Given the description of an element on the screen output the (x, y) to click on. 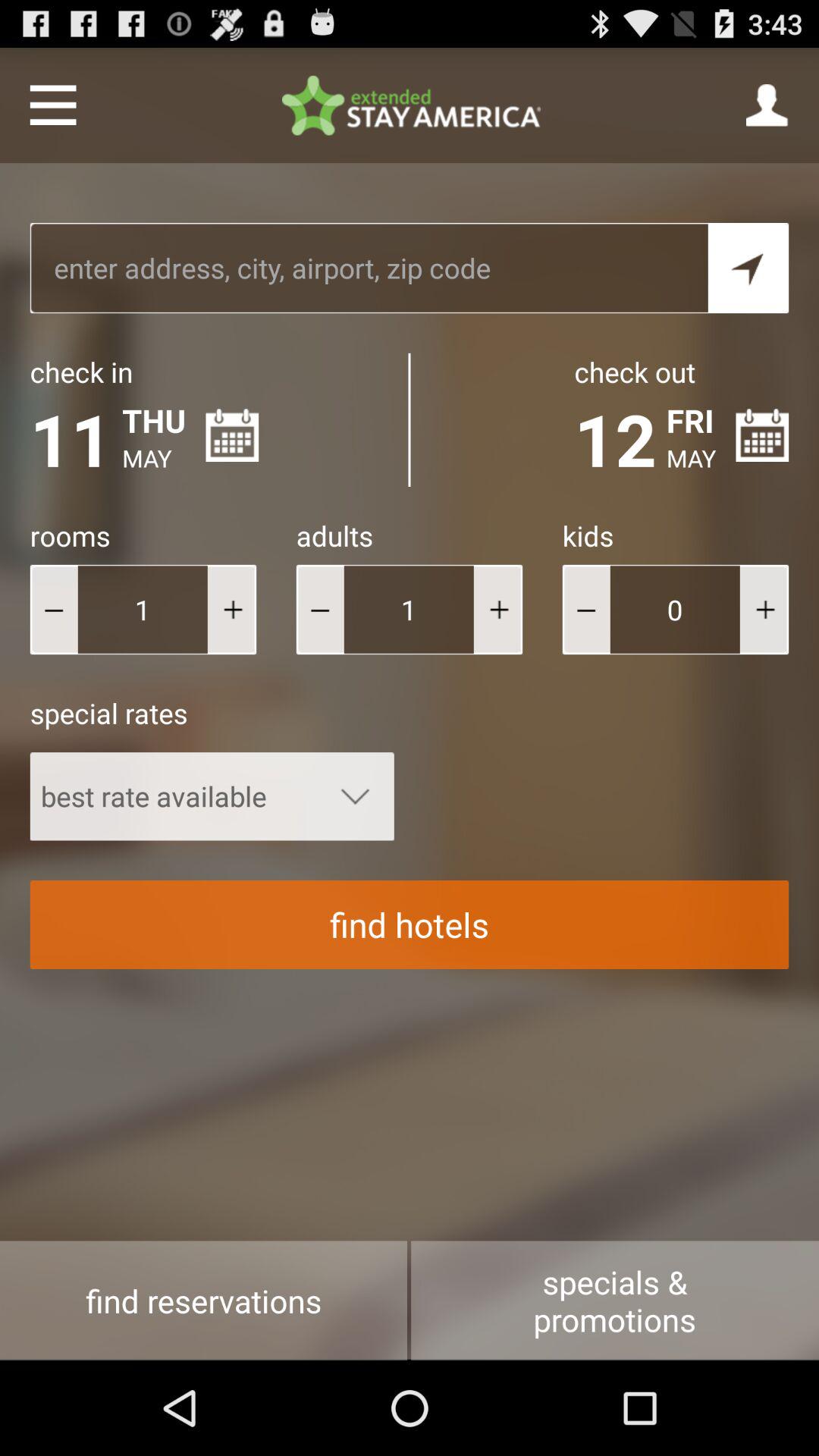
go to back (586, 609)
